Given the description of an element on the screen output the (x, y) to click on. 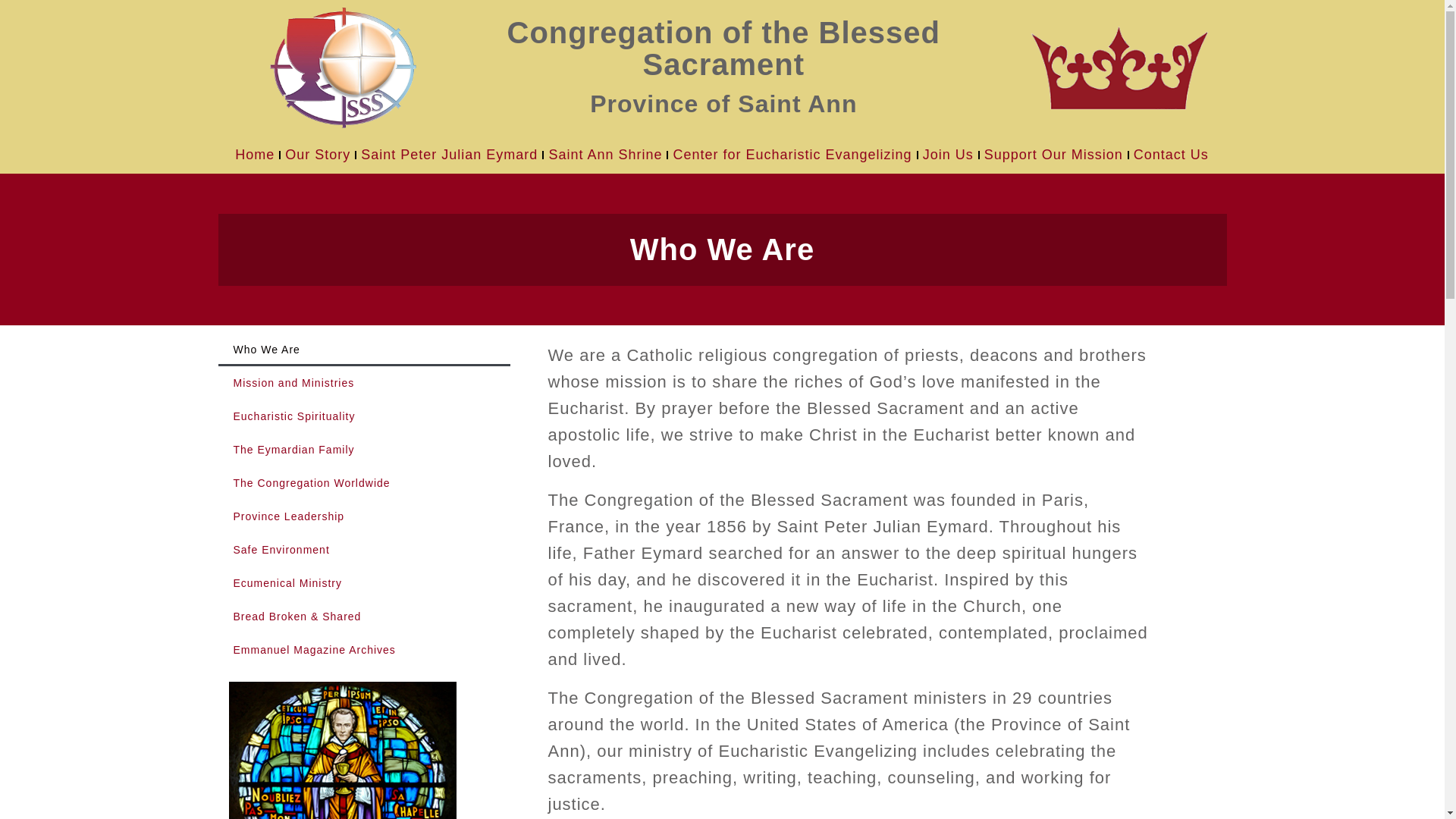
Center for Eucharistic Evangelizing (791, 154)
Our Story (318, 154)
Home (254, 154)
Saint Ann Shrine (604, 154)
Saint Peter Julian Eymard (448, 154)
